Given the description of an element on the screen output the (x, y) to click on. 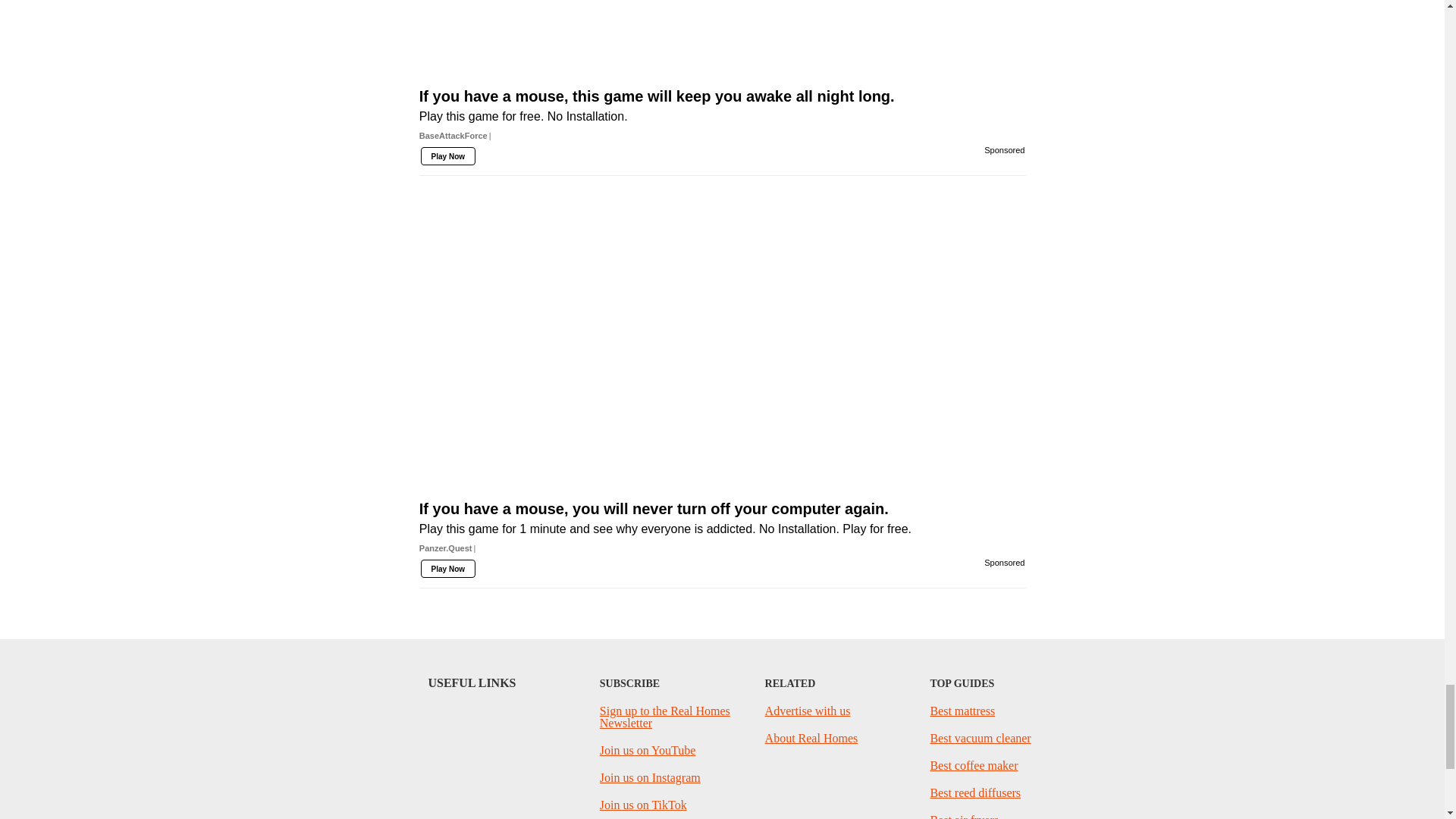
"Description: Play this game for free. No Installation." (722, 116)
